Given the description of an element on the screen output the (x, y) to click on. 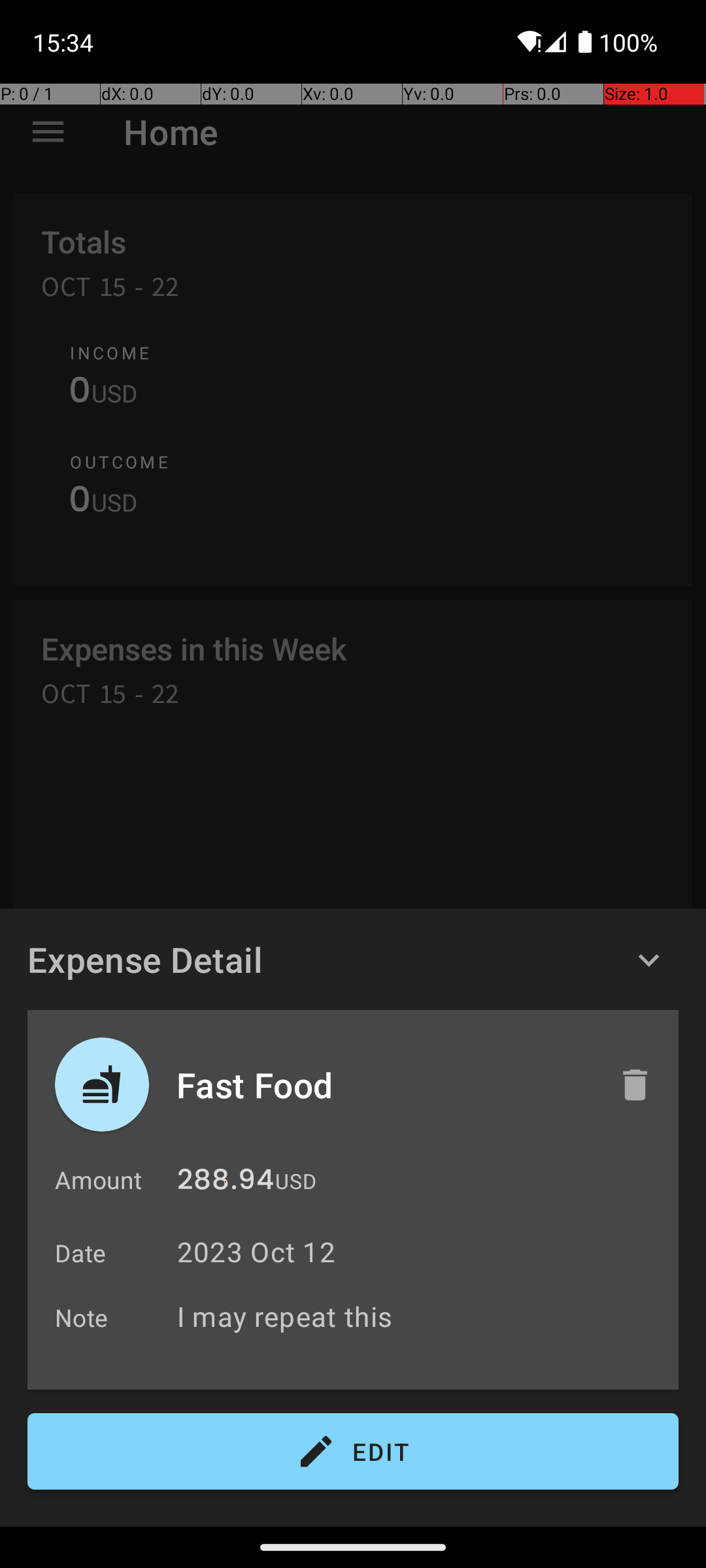
Fast Food Element type: android.widget.TextView (383, 1084)
288.94 Element type: android.widget.TextView (225, 1182)
